Given the description of an element on the screen output the (x, y) to click on. 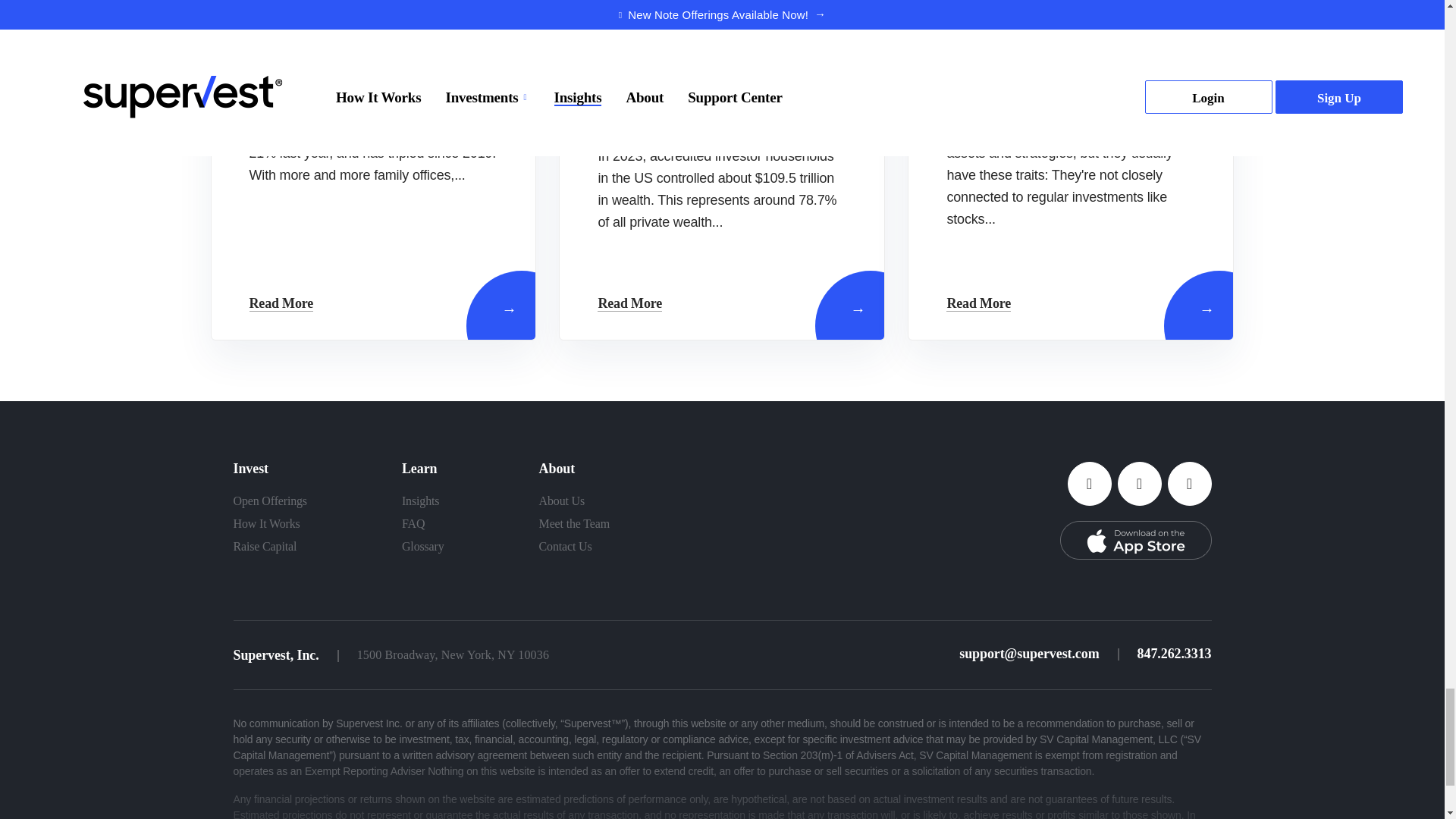
Facebook (1089, 483)
LinkedIn (1139, 483)
Instagram (1189, 483)
